Given the description of an element on the screen output the (x, y) to click on. 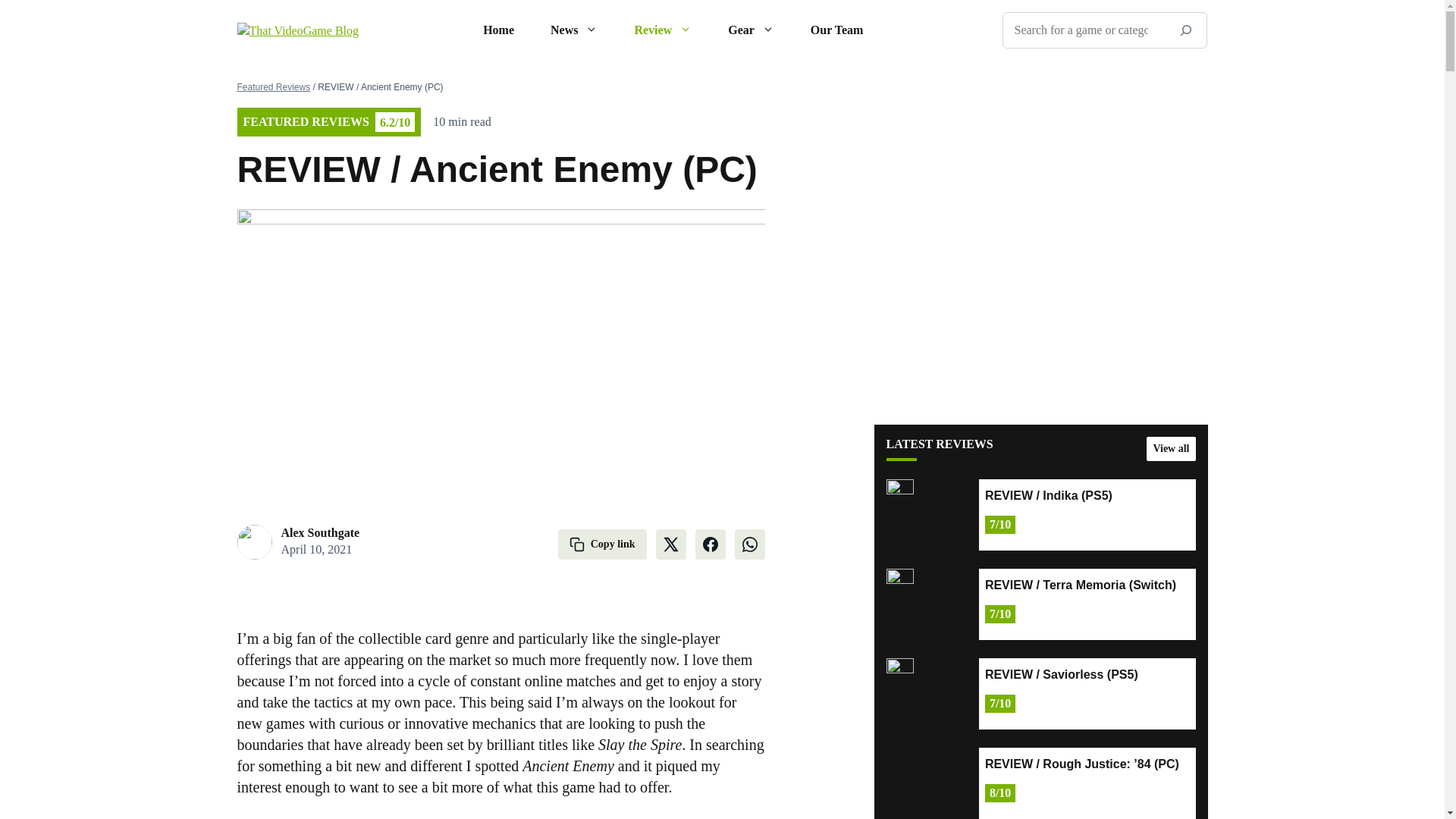
Home (498, 29)
News (573, 29)
Gear (751, 29)
Review (662, 29)
